Given the description of an element on the screen output the (x, y) to click on. 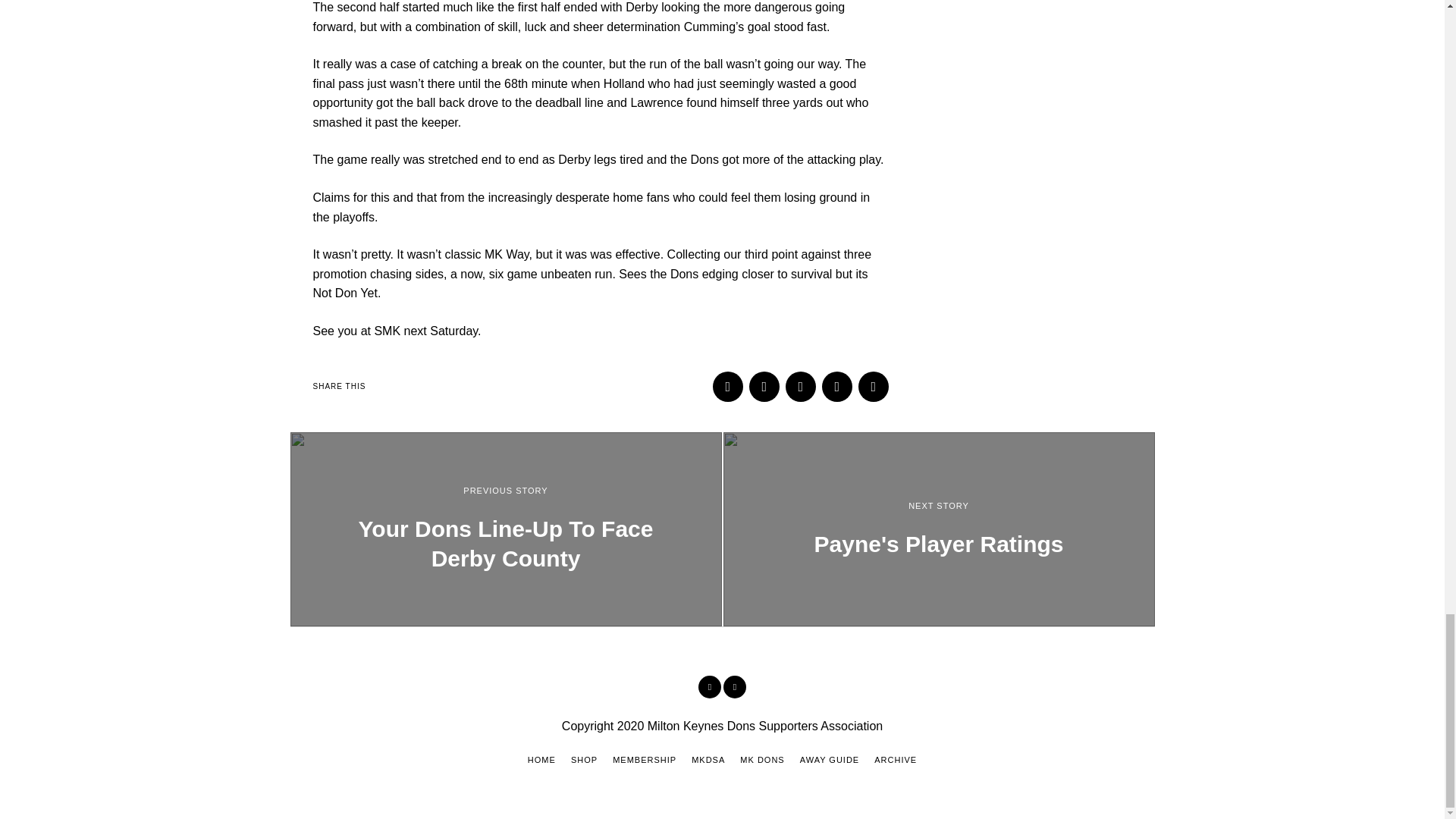
Messenger (763, 386)
Facebook (727, 386)
Facebook (709, 686)
Email (873, 386)
Whatsapp (836, 386)
Twitter (800, 386)
Twitter (734, 686)
